Given the description of an element on the screen output the (x, y) to click on. 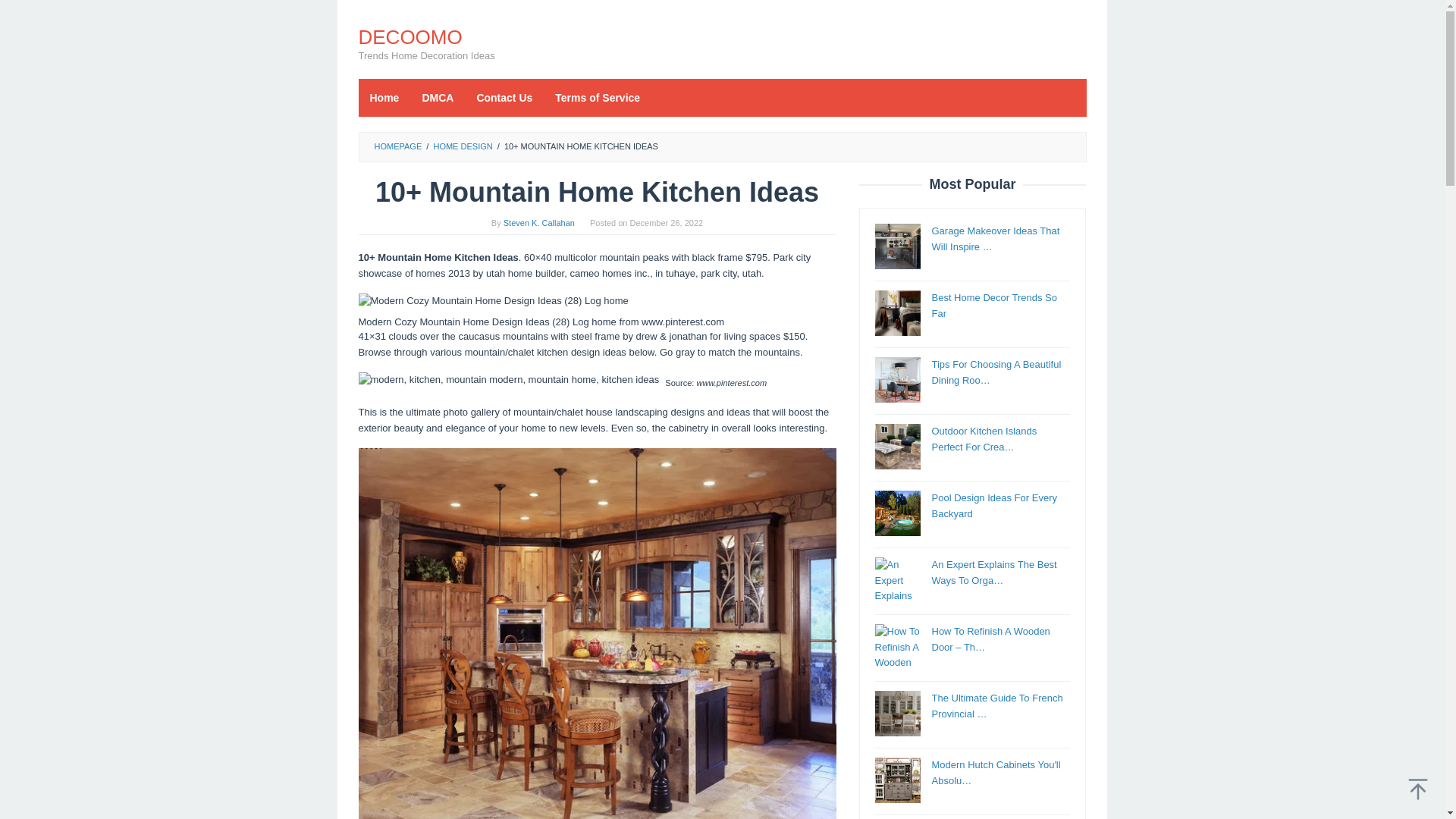
Garage Makeover Ideas That Will Inspire You To Get Organized (897, 246)
Permalink to: Best Home Decor Trends So Far (994, 305)
DECOOMO (409, 36)
HOMEPAGE (398, 145)
Terms of Service (596, 97)
Best Home Decor Trends So Far (897, 312)
Best Home Decor Trends So Far (994, 305)
DECOOMO (409, 36)
Steven K. Callahan (539, 222)
Pool Design Ideas For Every Backyard (994, 505)
DMCA (437, 97)
Home (384, 97)
HOME DESIGN (462, 145)
Contact Us (503, 97)
